Given the description of an element on the screen output the (x, y) to click on. 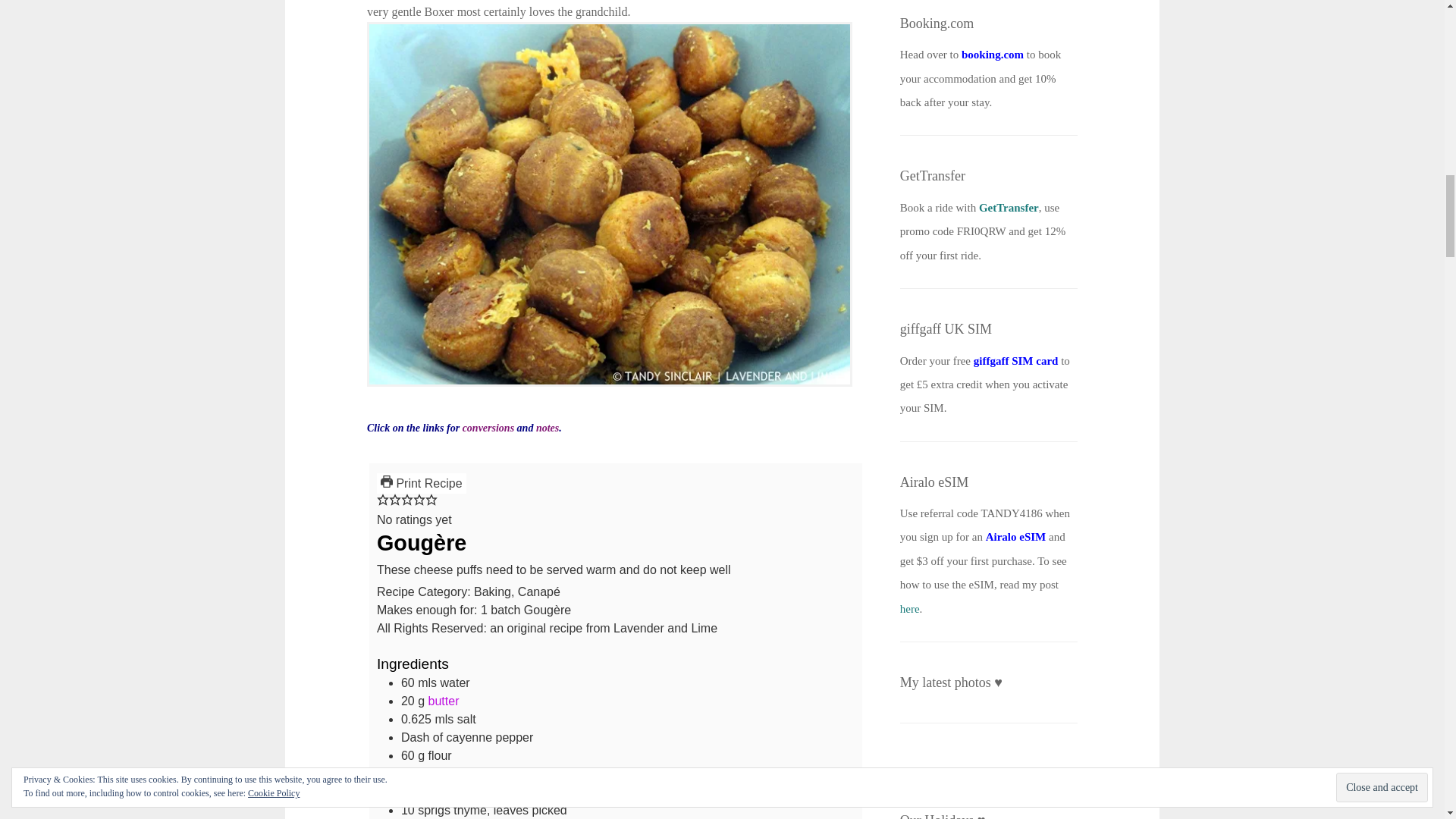
Print Recipe (421, 483)
butter (444, 700)
conversions (488, 428)
notes (547, 428)
